Given the description of an element on the screen output the (x, y) to click on. 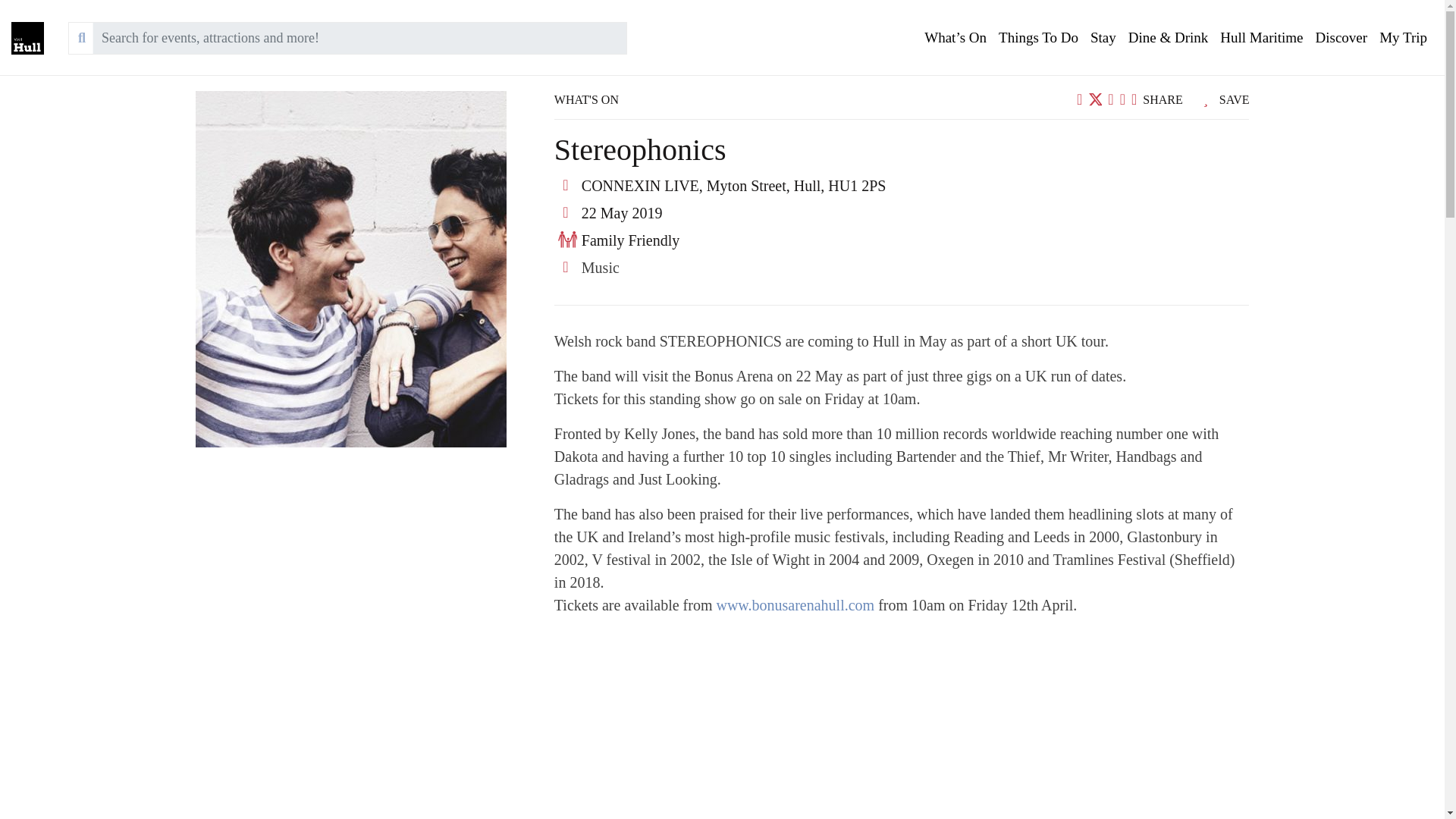
Hull Maritime (1261, 38)
My Trip (1402, 38)
Discover (1341, 38)
Discover (1341, 38)
www.bonusarenahull.com (795, 605)
My Trip (1402, 38)
Stay (1103, 38)
Music (600, 267)
What's On (955, 38)
Stay (1103, 38)
Hull Maritime (1261, 38)
Things To Do (1038, 38)
Things To Do (1038, 38)
